Given the description of an element on the screen output the (x, y) to click on. 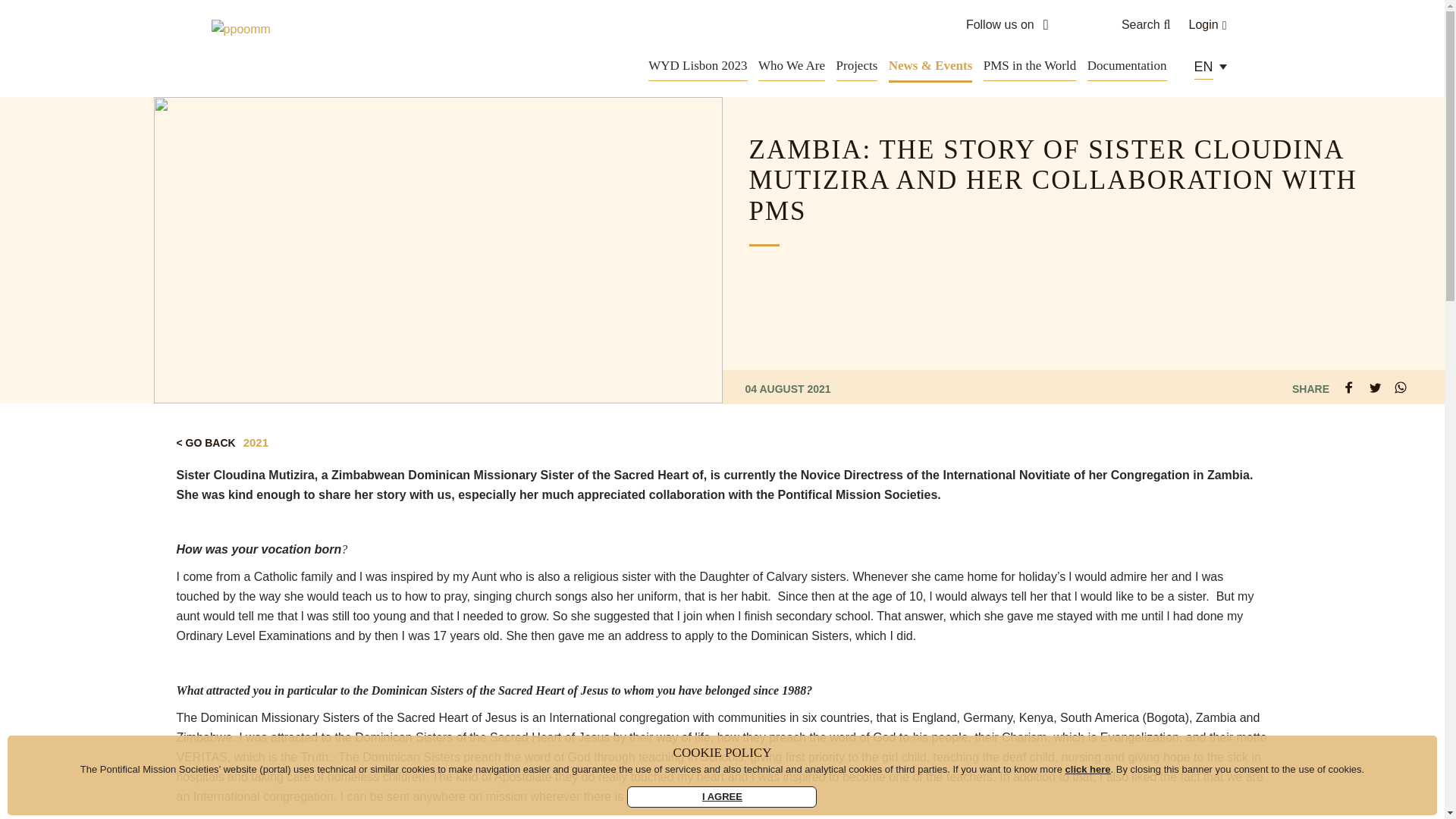
Login (1208, 25)
Who We Are (791, 65)
2021 (255, 441)
Documentation (1127, 65)
Projects (856, 65)
WYD Lisbon 2023 (696, 65)
EN (1207, 66)
PMS in the World (1030, 65)
